Given the description of an element on the screen output the (x, y) to click on. 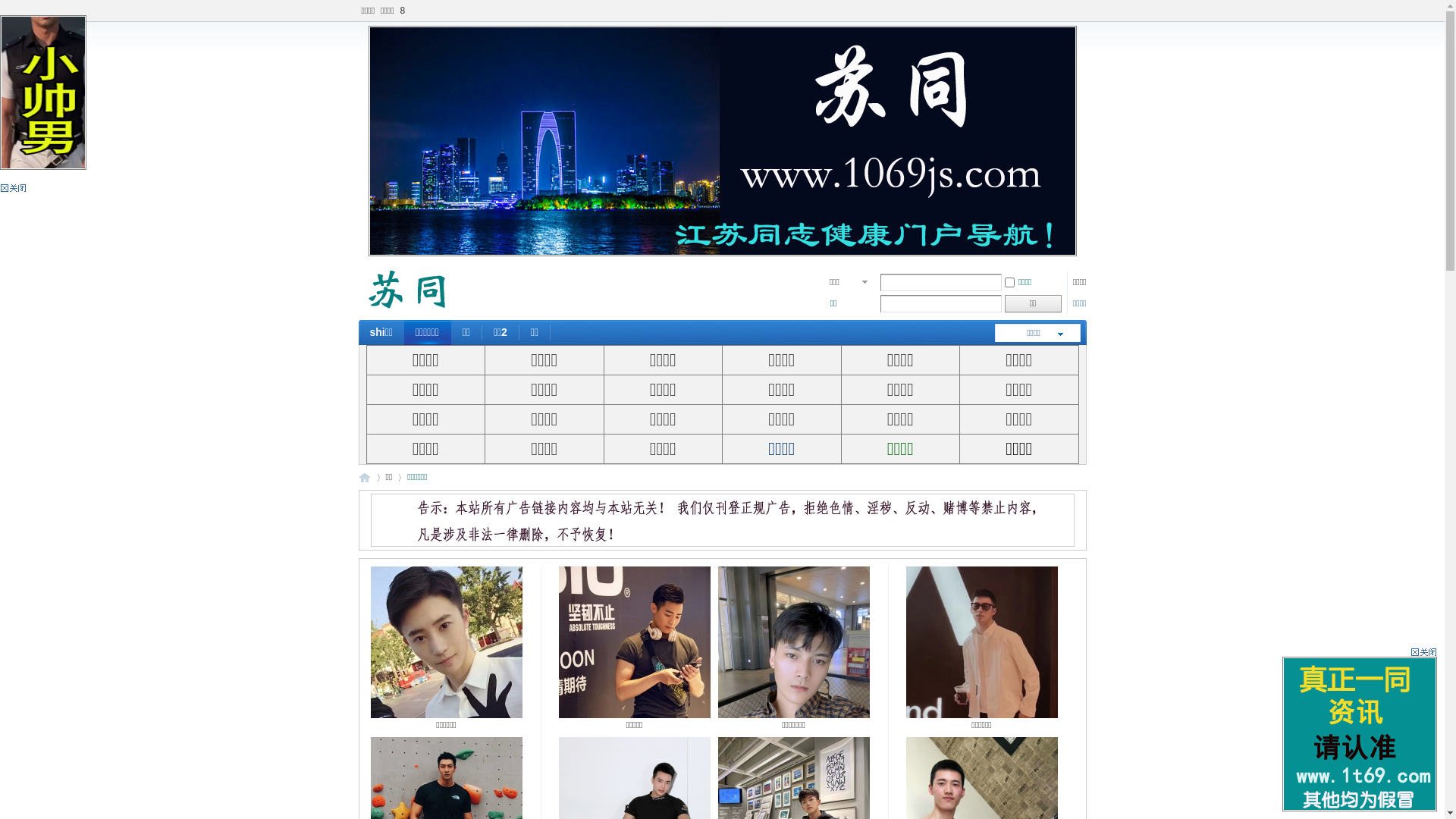
8 Element type: text (402, 10)
